Given the description of an element on the screen output the (x, y) to click on. 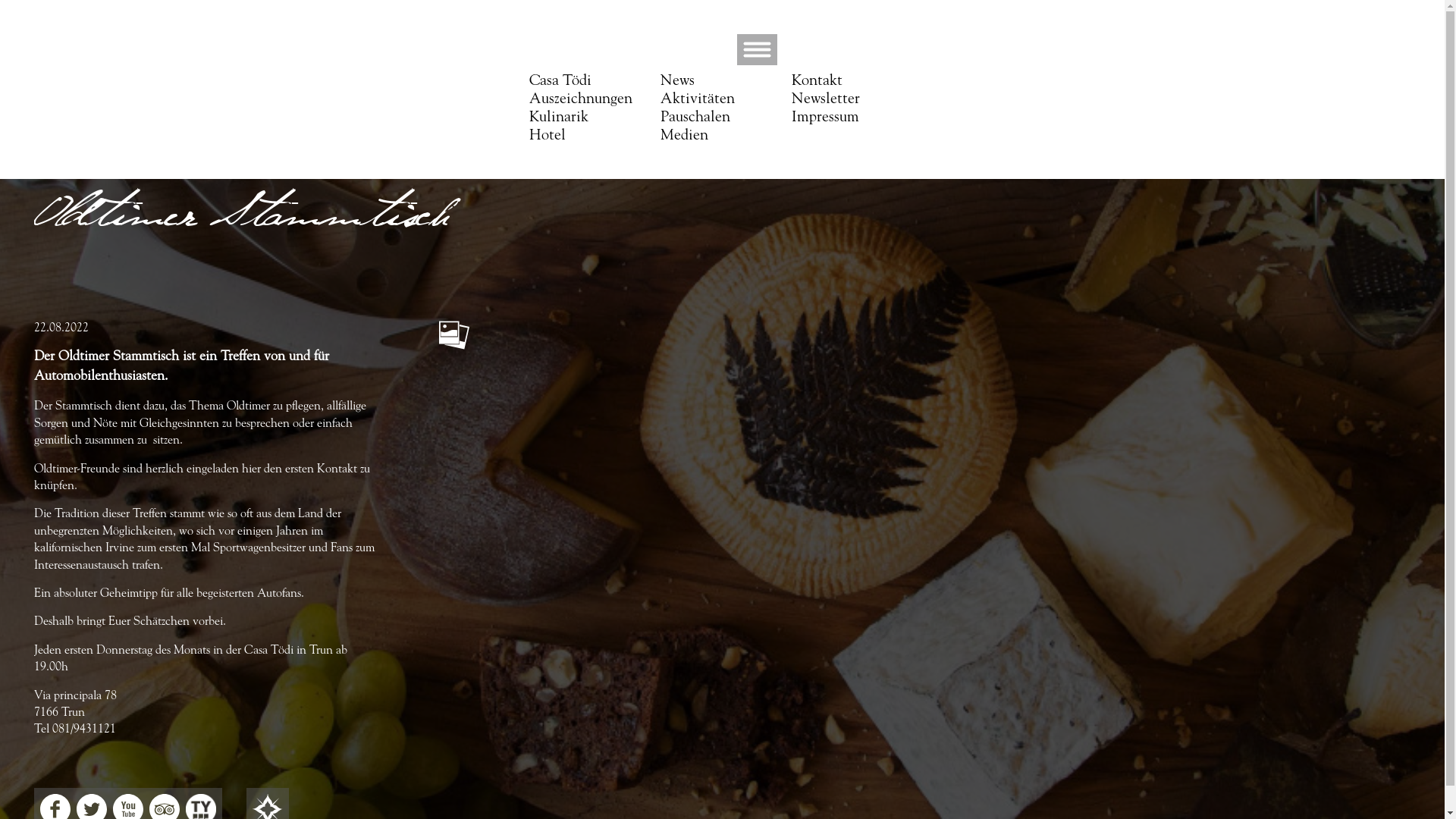
Medien Element type: text (684, 135)
Menu Element type: hover (757, 62)
Kontakt Element type: text (816, 80)
Newsletter Element type: text (825, 98)
Pauschalen Element type: text (695, 117)
Impressum Element type: text (825, 117)
News Element type: text (677, 80)
Hotel Element type: text (547, 135)
Auszeichnungen Element type: text (580, 98)
Kulinarik Element type: text (558, 117)
